Given the description of an element on the screen output the (x, y) to click on. 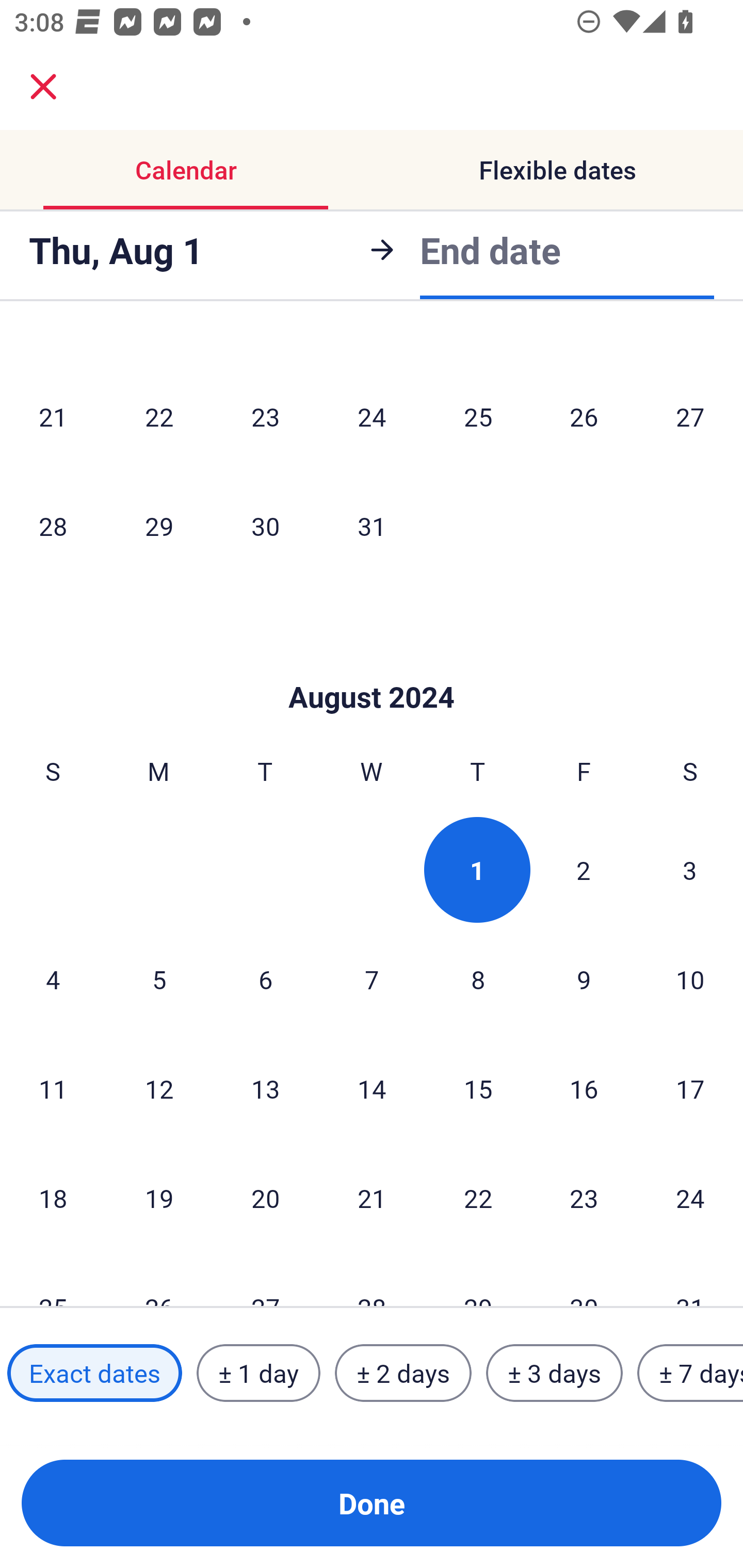
close. (43, 86)
Flexible dates (557, 170)
End date (489, 246)
21 Sunday, July 21, 2024 (53, 415)
22 Monday, July 22, 2024 (159, 415)
23 Tuesday, July 23, 2024 (265, 415)
24 Wednesday, July 24, 2024 (371, 415)
25 Thursday, July 25, 2024 (477, 415)
26 Friday, July 26, 2024 (584, 415)
27 Saturday, July 27, 2024 (690, 415)
28 Sunday, July 28, 2024 (53, 525)
29 Monday, July 29, 2024 (159, 525)
30 Tuesday, July 30, 2024 (265, 525)
31 Wednesday, July 31, 2024 (371, 525)
Skip to Done (371, 666)
2 Friday, August 2, 2024 (583, 868)
3 Saturday, August 3, 2024 (689, 868)
4 Sunday, August 4, 2024 (53, 978)
5 Monday, August 5, 2024 (159, 978)
6 Tuesday, August 6, 2024 (265, 978)
7 Wednesday, August 7, 2024 (371, 978)
8 Thursday, August 8, 2024 (477, 978)
9 Friday, August 9, 2024 (584, 978)
10 Saturday, August 10, 2024 (690, 978)
11 Sunday, August 11, 2024 (53, 1088)
12 Monday, August 12, 2024 (159, 1088)
13 Tuesday, August 13, 2024 (265, 1088)
14 Wednesday, August 14, 2024 (371, 1088)
15 Thursday, August 15, 2024 (477, 1088)
16 Friday, August 16, 2024 (584, 1088)
17 Saturday, August 17, 2024 (690, 1088)
18 Sunday, August 18, 2024 (53, 1197)
19 Monday, August 19, 2024 (159, 1197)
20 Tuesday, August 20, 2024 (265, 1197)
21 Wednesday, August 21, 2024 (371, 1197)
22 Thursday, August 22, 2024 (477, 1197)
23 Friday, August 23, 2024 (584, 1197)
24 Saturday, August 24, 2024 (690, 1197)
Exact dates (94, 1372)
± 1 day (258, 1372)
± 2 days (403, 1372)
± 3 days (553, 1372)
± 7 days (690, 1372)
Done (371, 1502)
